Given the description of an element on the screen output the (x, y) to click on. 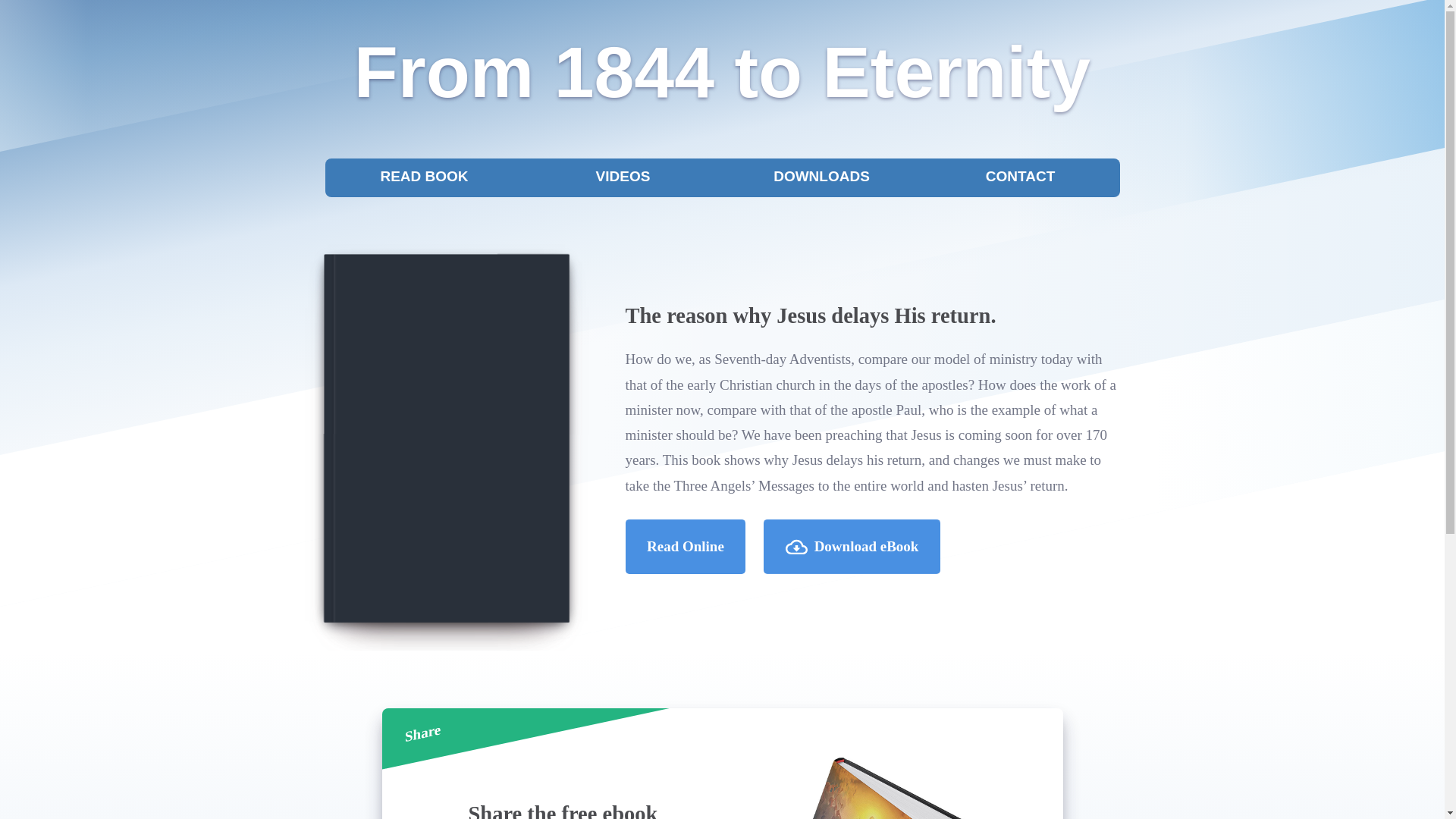
Download eBook Element type: text (851, 546)
DOWNLOADS Element type: text (820, 177)
READ BOOK Element type: text (423, 177)
Read Online Element type: text (684, 546)
VIDEOS Element type: text (622, 177)
CONTACT Element type: text (1019, 177)
From 1844 to Eternity Element type: text (722, 71)
